Given the description of an element on the screen output the (x, y) to click on. 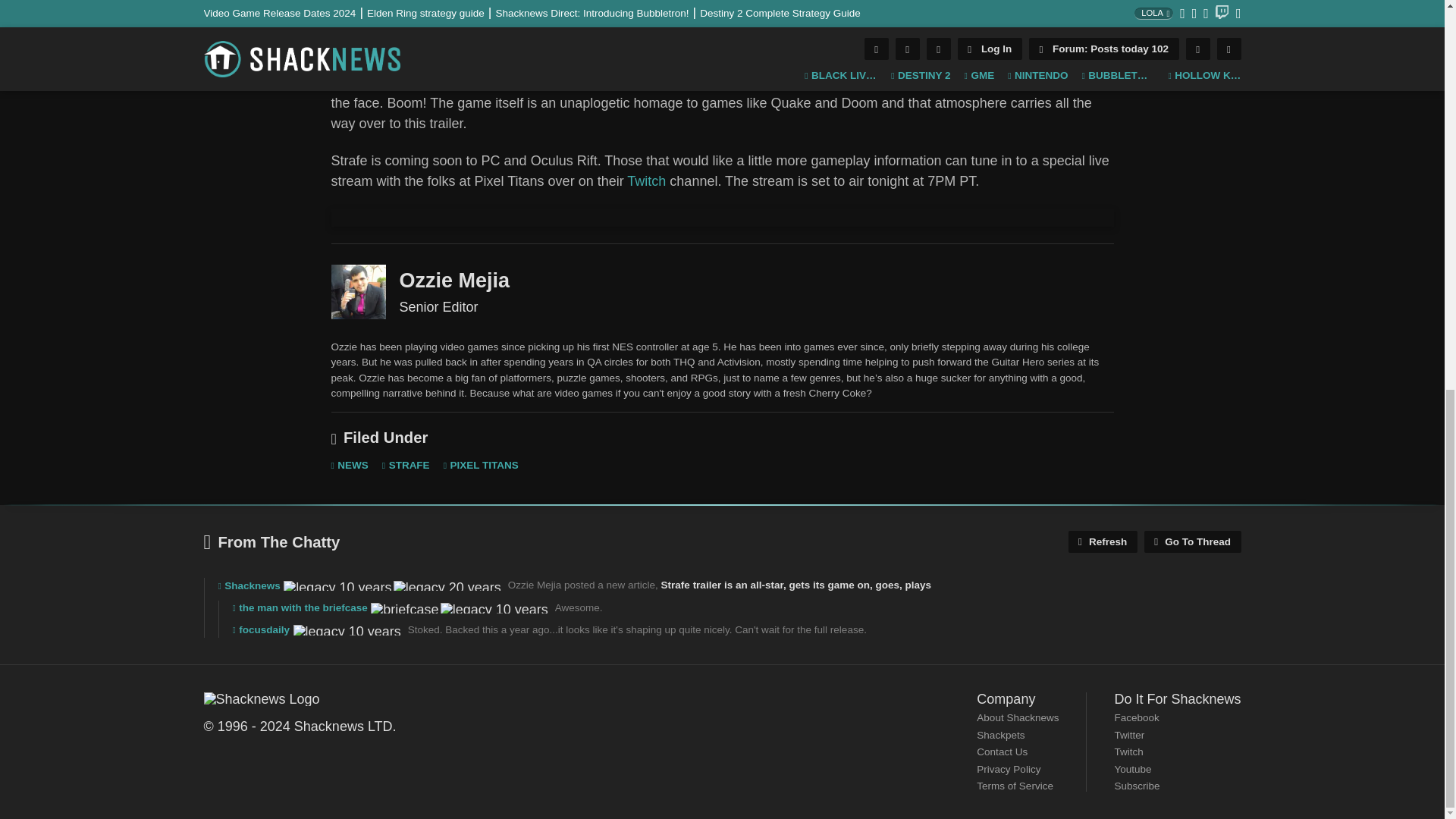
legacy 10 years (347, 629)
briefcase (404, 607)
legacy 10 years (494, 607)
Senior Editor (357, 291)
legacy 10 years (337, 585)
legacy 20 years (446, 585)
